Given the description of an element on the screen output the (x, y) to click on. 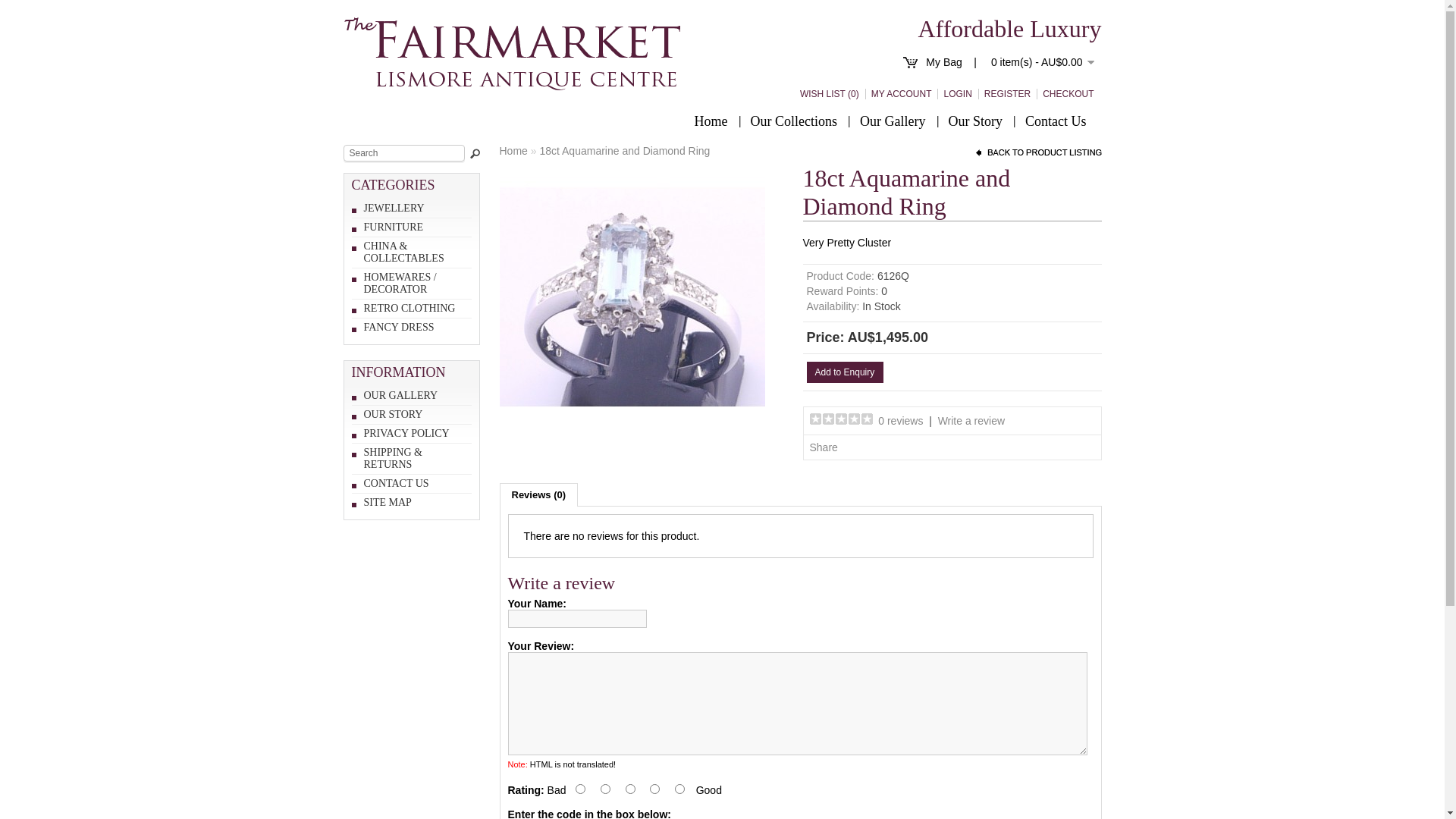
SITE MAP Element type: text (387, 502)
MY ACCOUNT Element type: text (898, 93)
My Bag    | 0 item(s) - AU$0.00 Element type: text (1009, 62)
18ct Aquamarine and Diamond Ring Element type: hover (631, 426)
FANCY DRESS Element type: text (399, 326)
0 reviews Element type: text (900, 420)
Write a review Element type: text (971, 420)
SHIPPING & RETURNS Element type: text (393, 458)
Our Story Element type: text (975, 120)
Our Collections Element type: text (794, 120)
FURNITURE Element type: text (393, 226)
HOMEWARES / DECORATOR Element type: text (400, 282)
WISH LIST (0) Element type: text (826, 93)
LOGIN Element type: text (954, 93)
Home Element type: text (512, 150)
PRIVACY POLICY Element type: text (406, 433)
RETRO CLOTHING Element type: text (409, 307)
CHECKOUT Element type: text (1064, 93)
OUR STORY Element type: text (393, 414)
CHINA & COLLECTABLES Element type: text (404, 251)
Reviews (0) Element type: text (537, 494)
Home Element type: text (711, 120)
JEWELLERY Element type: text (394, 207)
Add to Enquiry Element type: text (845, 371)
Our Gallery Element type: text (892, 120)
REGISTER Element type: text (1004, 93)
OUR GALLERY Element type: text (401, 395)
Contact Us Element type: text (1055, 120)
18ct Aquamarine and Diamond Ring Element type: hover (631, 296)
Share Element type: text (823, 447)
18ct Aquamarine and Diamond Ring Element type: text (624, 150)
The Fairmarket Lismore Antique Centre Element type: hover (511, 53)
CONTACT US Element type: text (396, 483)
